Given the description of an element on the screen output the (x, y) to click on. 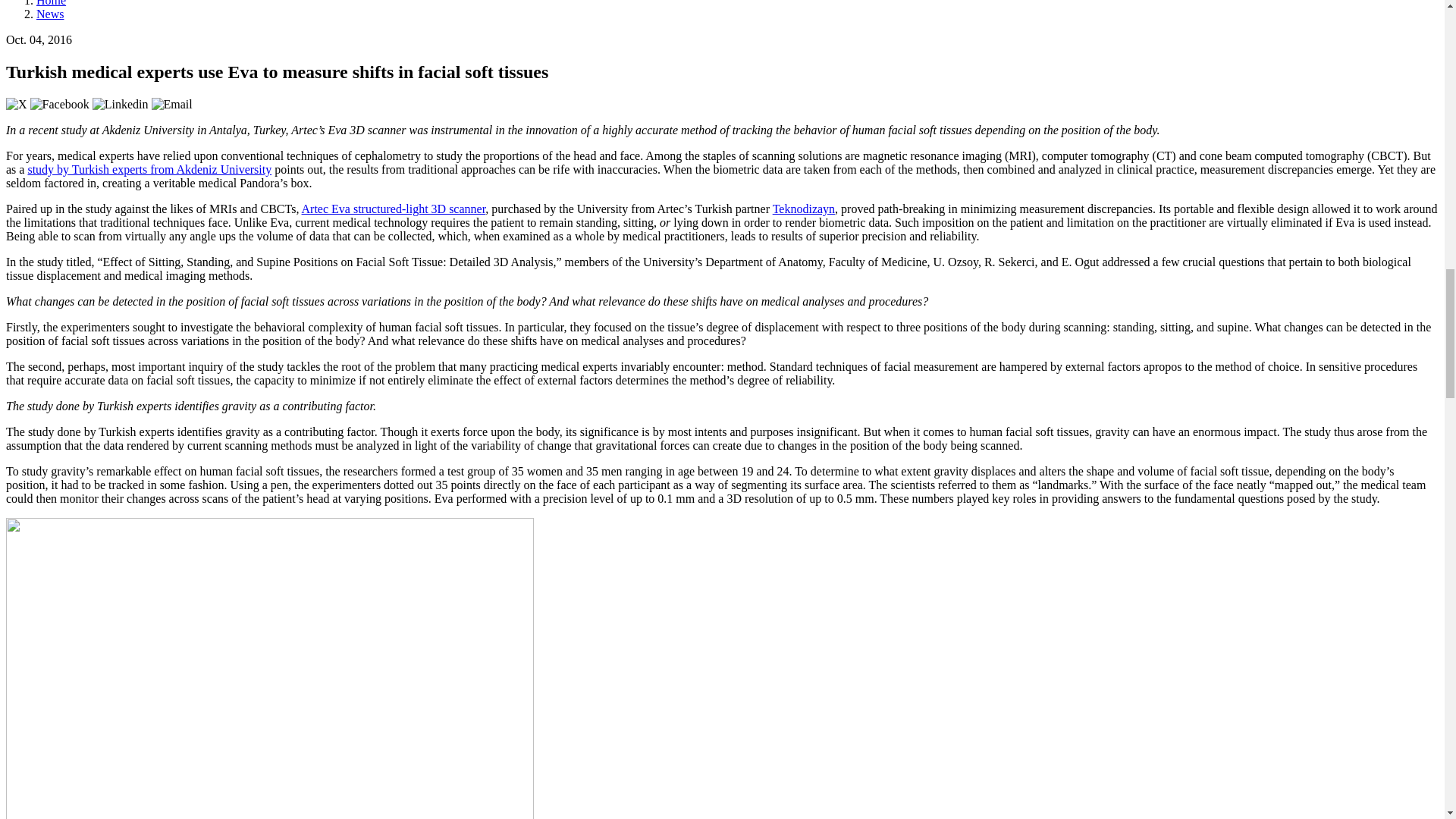
News (50, 13)
Home (50, 3)
